Given the description of an element on the screen output the (x, y) to click on. 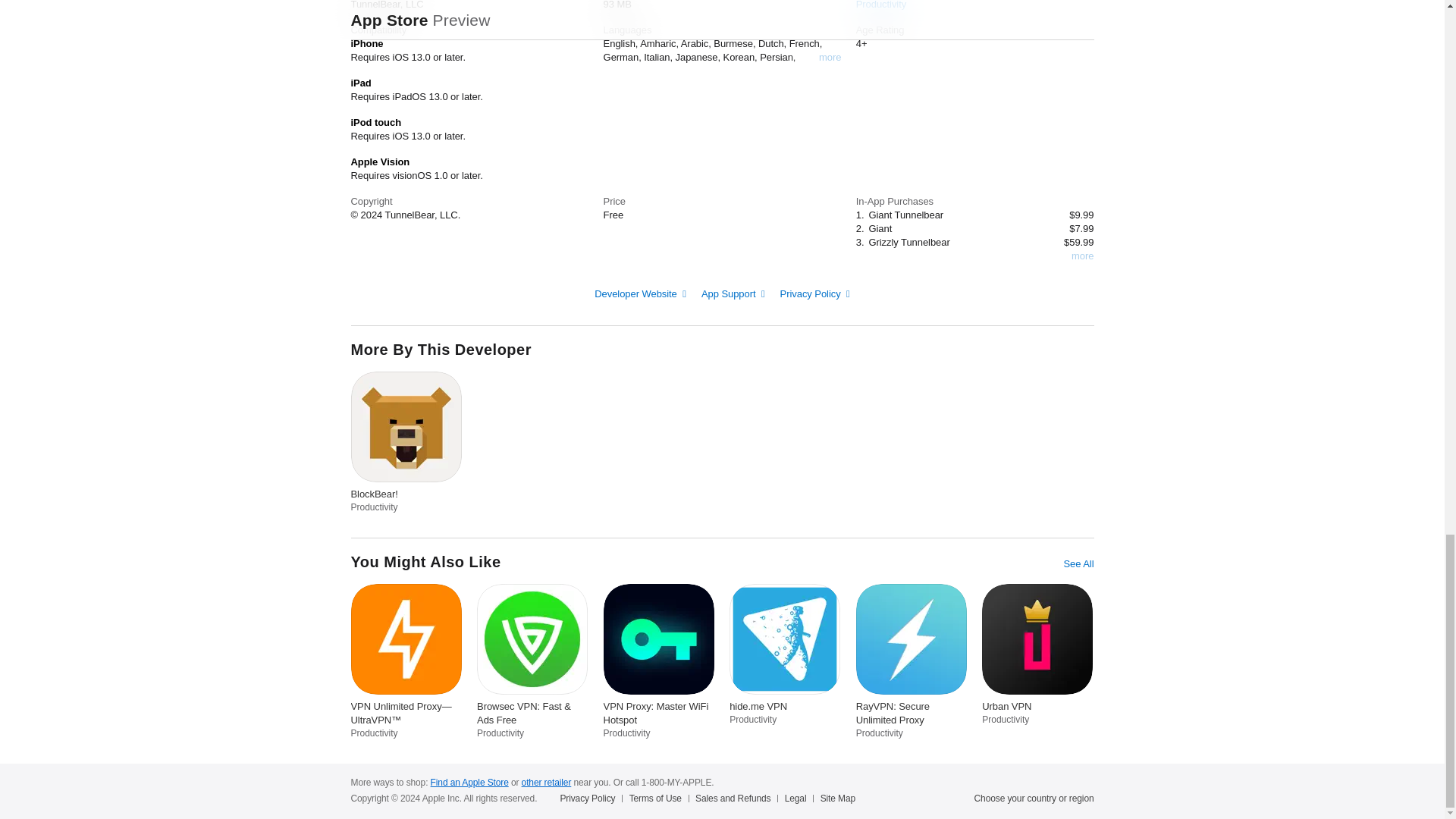
Choose your country or region (1034, 797)
